Given the description of an element on the screen output the (x, y) to click on. 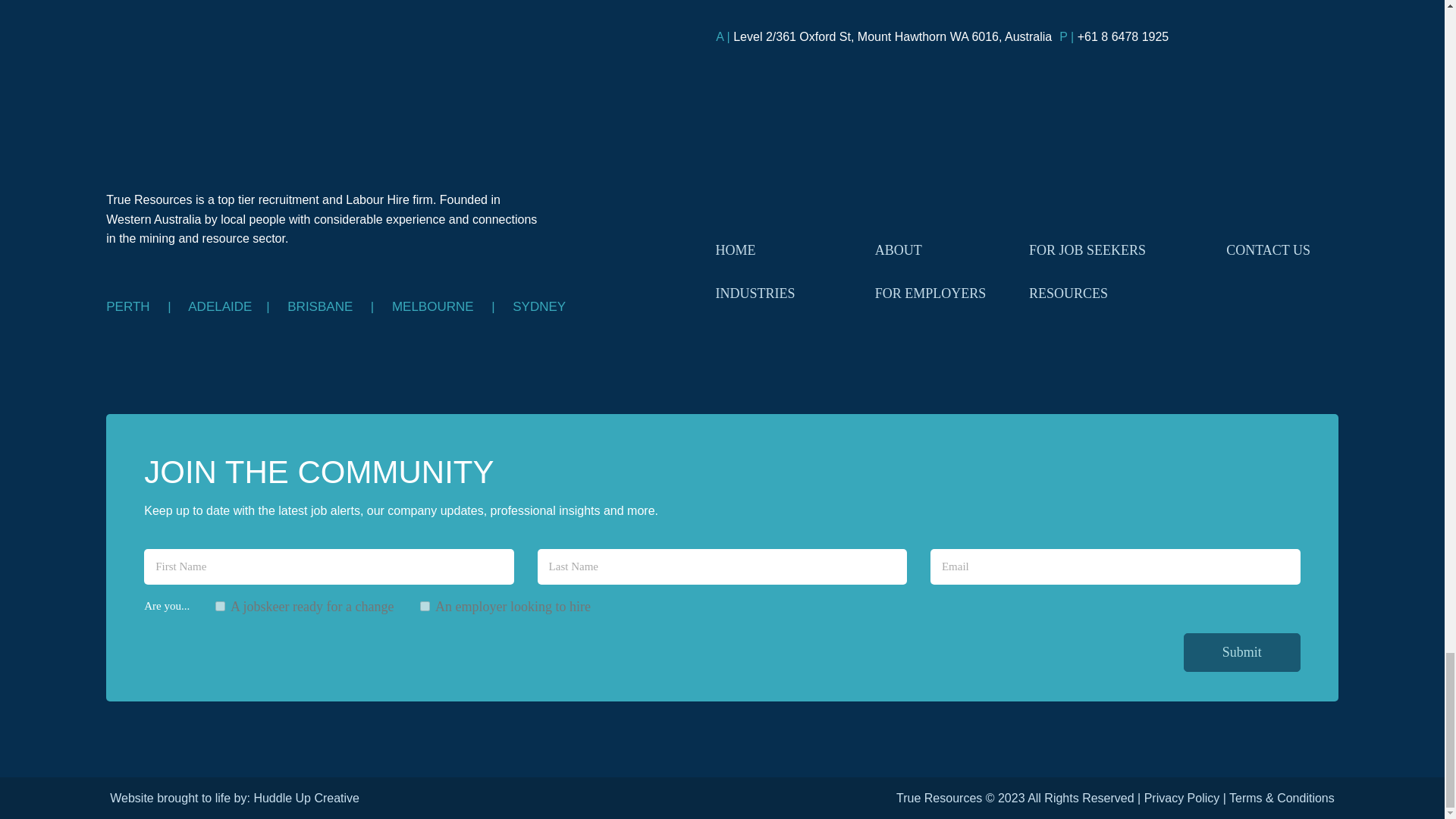
Submit (1241, 652)
An employer looking to hire (424, 605)
A jobskeer ready for a change (220, 605)
